Given the description of an element on the screen output the (x, y) to click on. 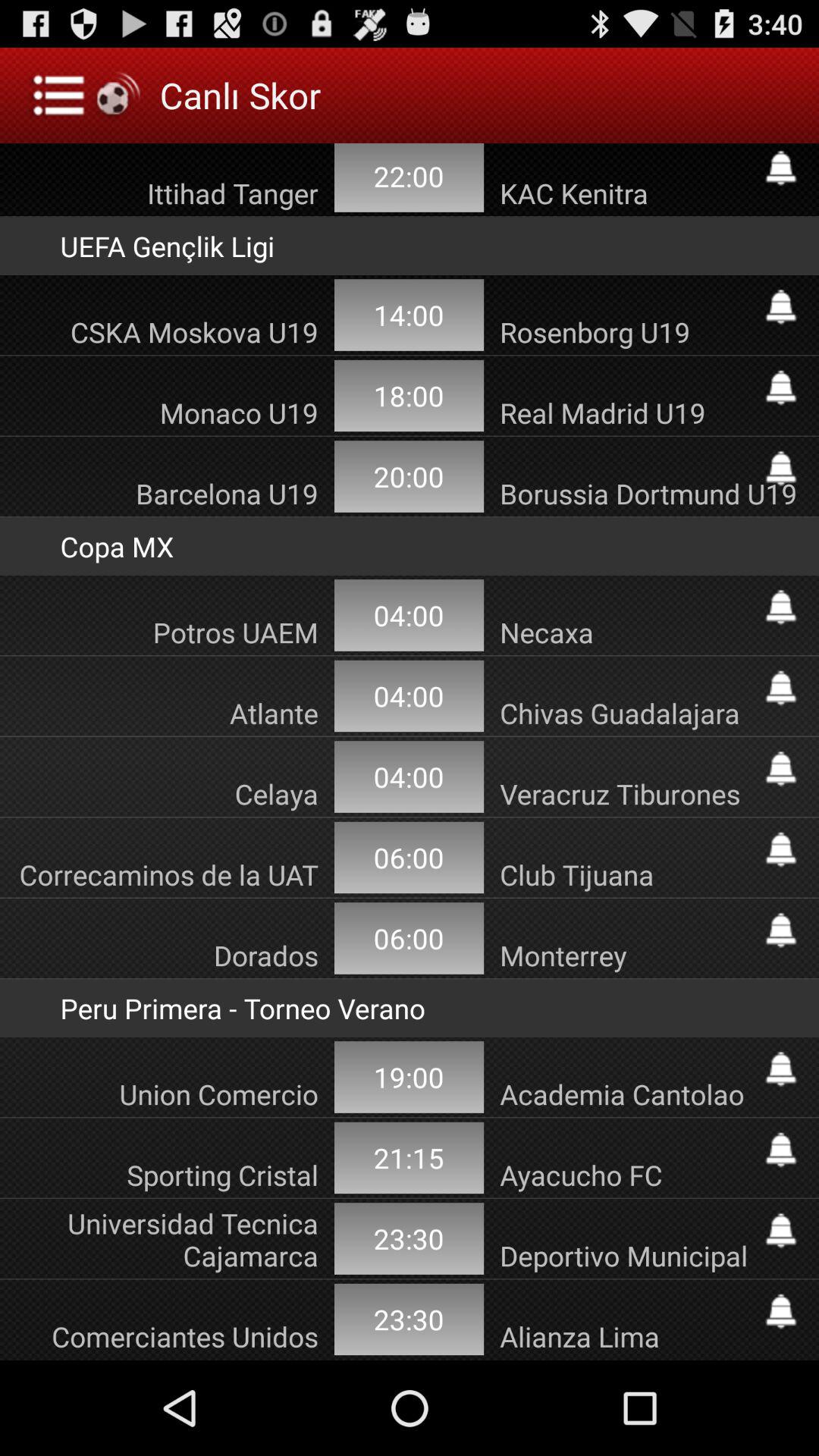
add a notification for this game (780, 1311)
